Given the description of an element on the screen output the (x, y) to click on. 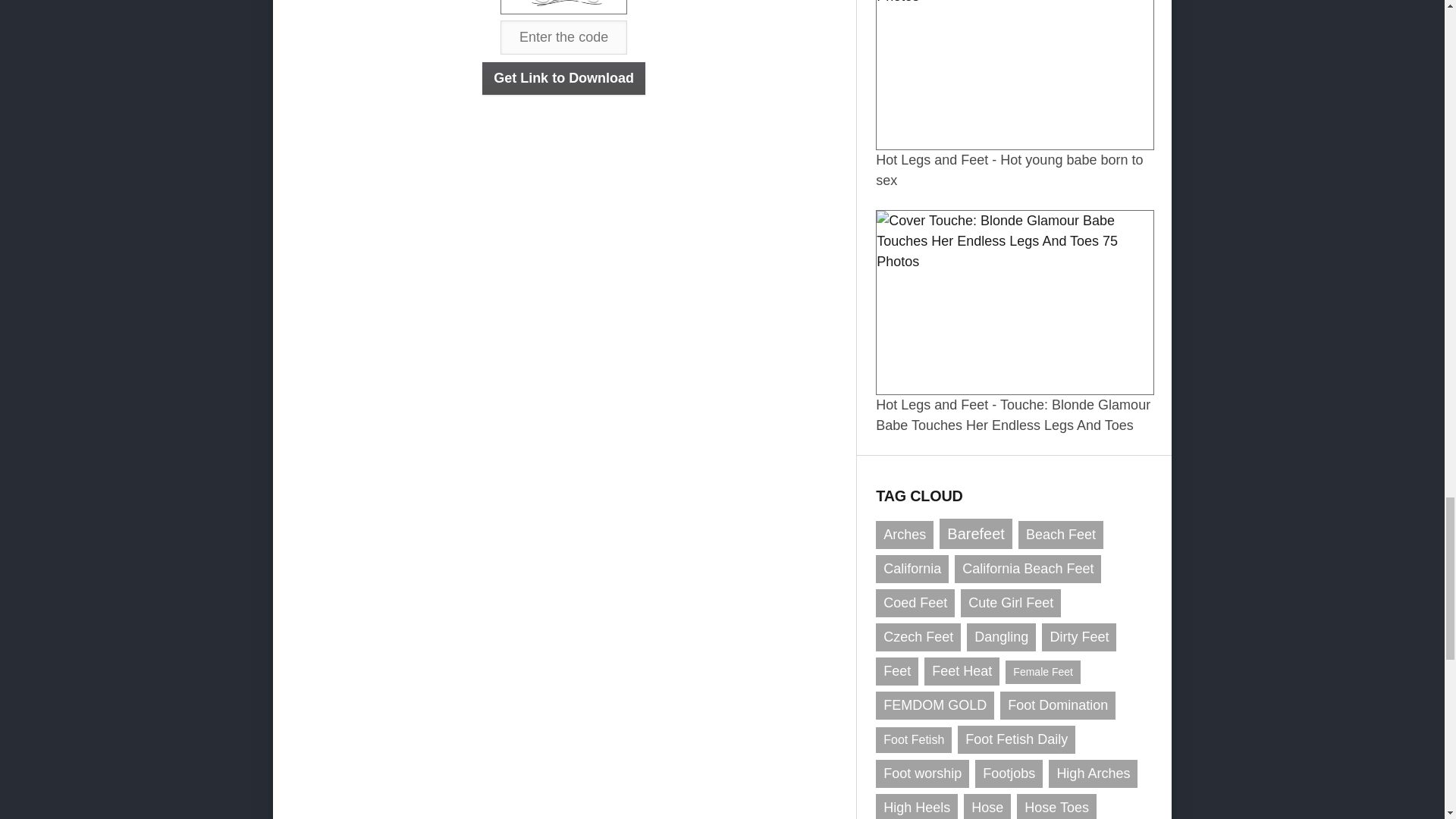
Enter the code from the image (563, 37)
Hot Legs and Feet - Hot young babe born to sex (1015, 160)
Publication found: 17515 (975, 533)
Get Link to Download (563, 78)
Publication found: 3169 (1027, 569)
Publication found: 1563 (1010, 602)
Publication found: 2974 (912, 569)
Publication found: 1796 (904, 534)
Publication found: 1592 (915, 602)
